Given the description of an element on the screen output the (x, y) to click on. 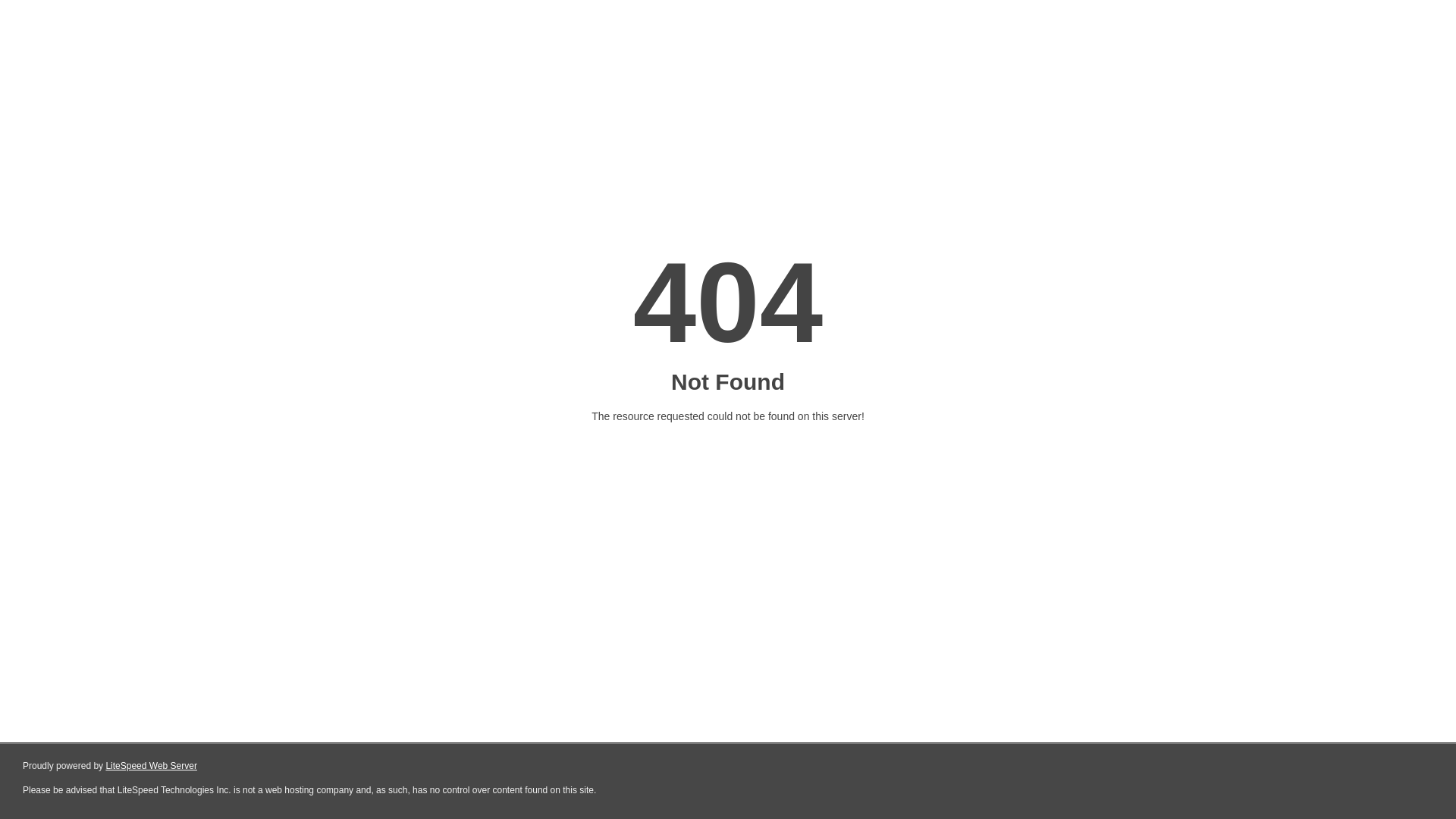
LiteSpeed Web Server Element type: text (151, 765)
